Given the description of an element on the screen output the (x, y) to click on. 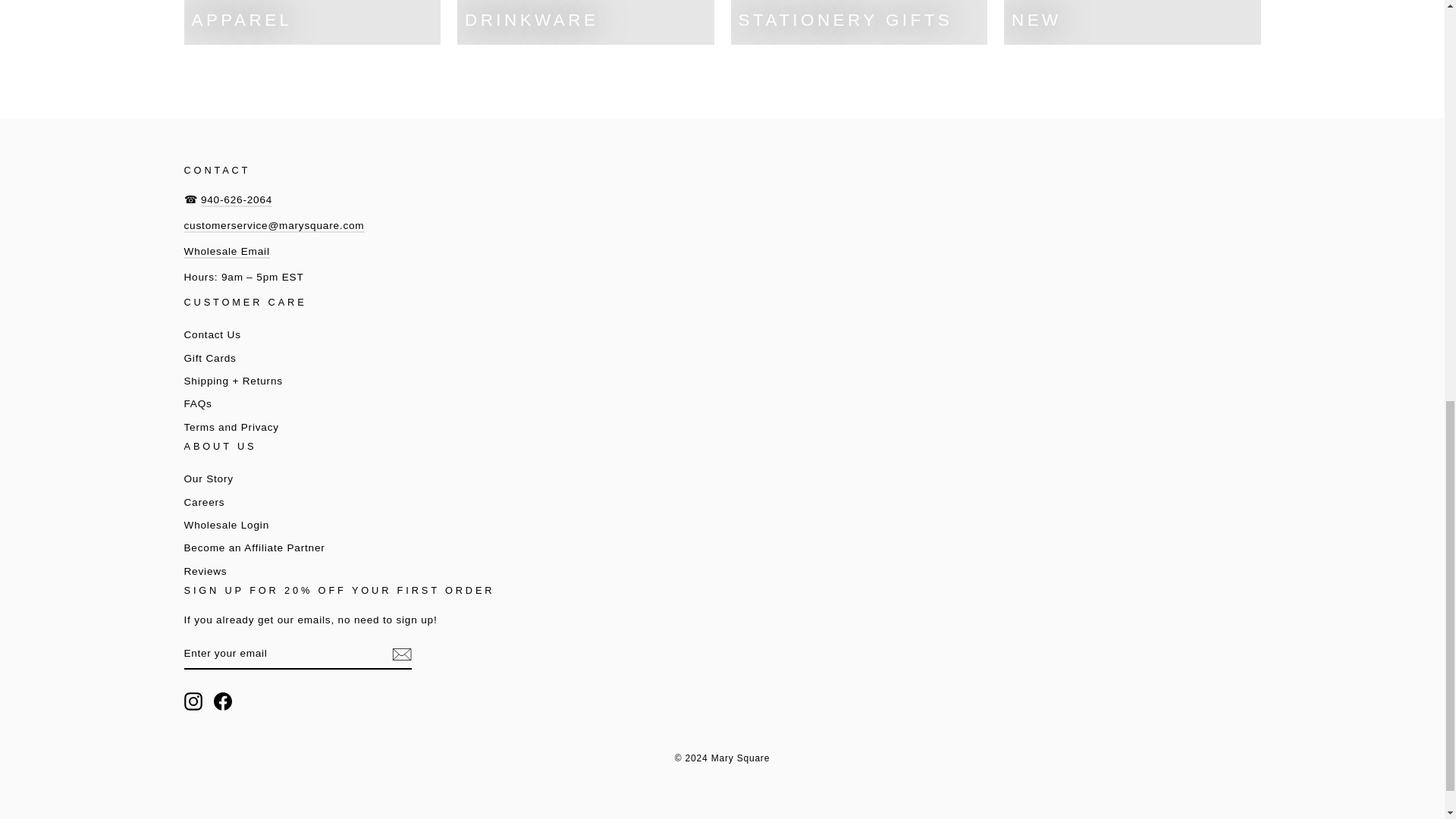
Call us! (236, 200)
Mary Square on Facebook (222, 701)
Wholesale Email (226, 251)
Mary Square on Instagram (192, 701)
